Given the description of an element on the screen output the (x, y) to click on. 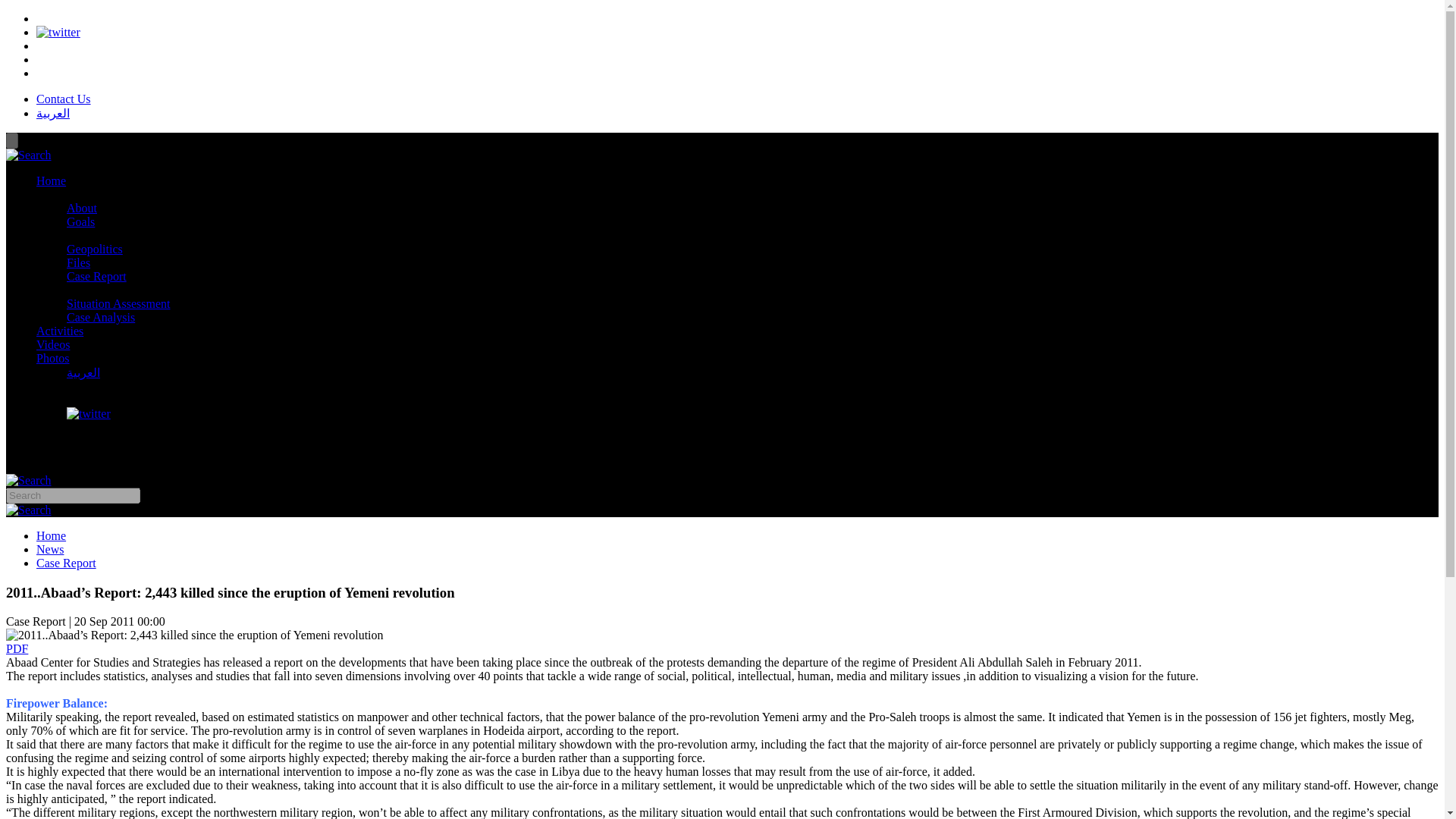
Case Report (96, 276)
About Abaad (68, 194)
Case Analysis (100, 317)
Goals (80, 221)
Case Report (66, 562)
About (81, 207)
Situation Assessment (118, 303)
Contact Us (63, 98)
Home (50, 180)
Strategies (60, 235)
Policy Analysis (74, 289)
Activities (59, 330)
Videos (52, 344)
Geopolitics (94, 248)
PDF (16, 648)
